Given the description of an element on the screen output the (x, y) to click on. 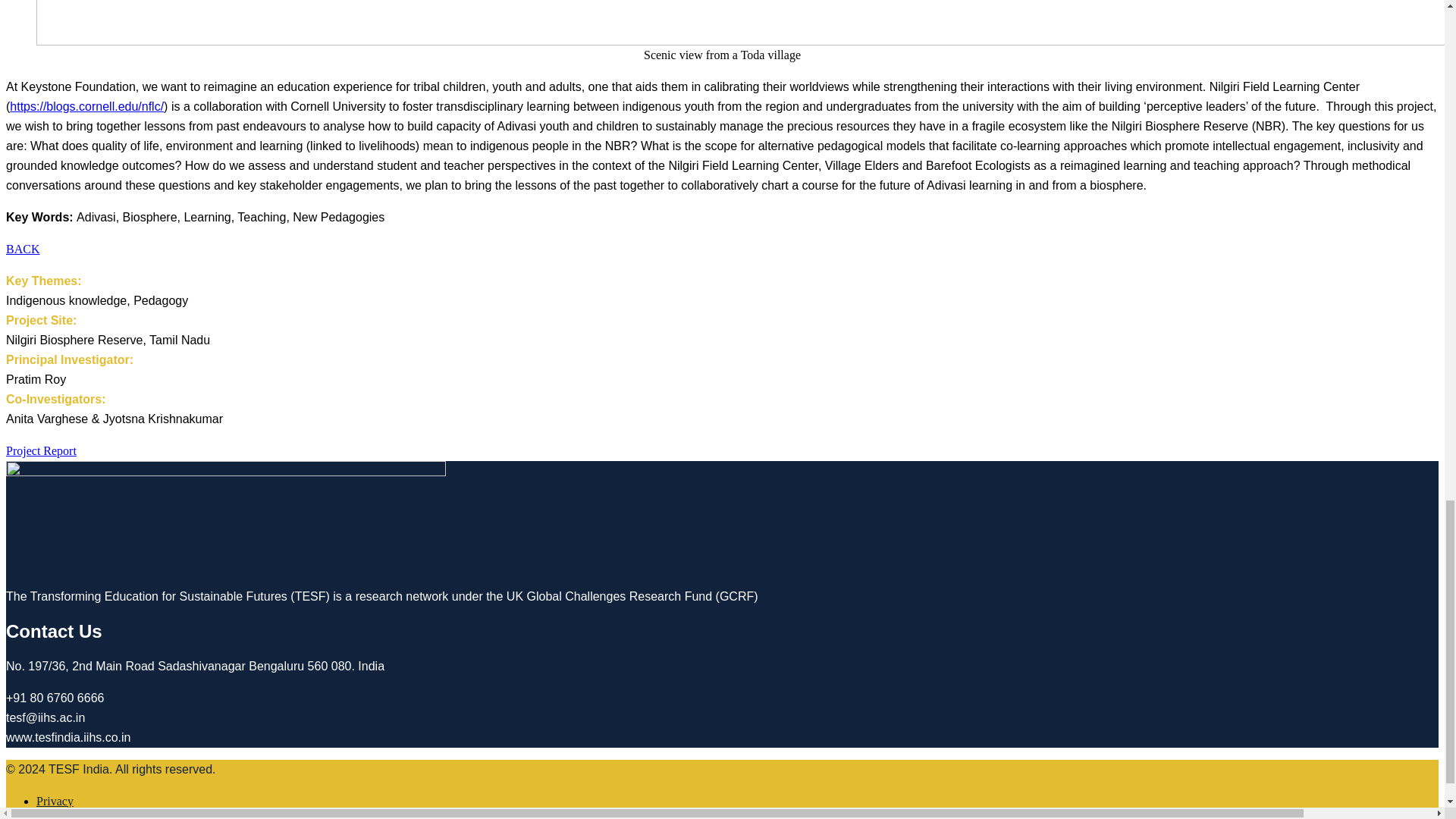
Project Report (41, 450)
Privacy (55, 800)
BACK (22, 248)
